Given the description of an element on the screen output the (x, y) to click on. 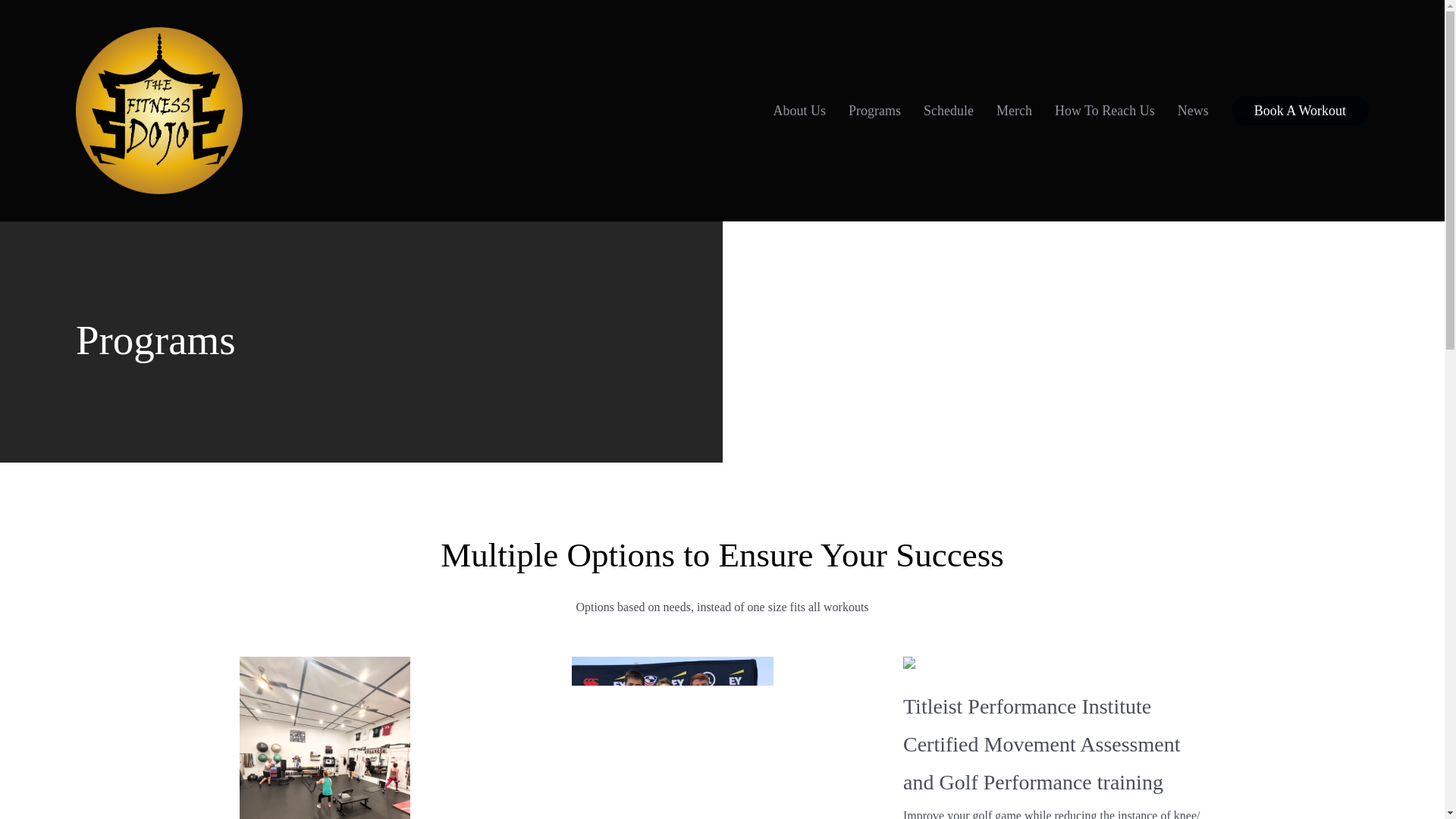
News (1192, 110)
Schedule (948, 110)
Book A Workout (1299, 110)
Merch (1013, 110)
About Us (799, 110)
Programs (874, 110)
How To Reach Us (1104, 110)
